Given the description of an element on the screen output the (x, y) to click on. 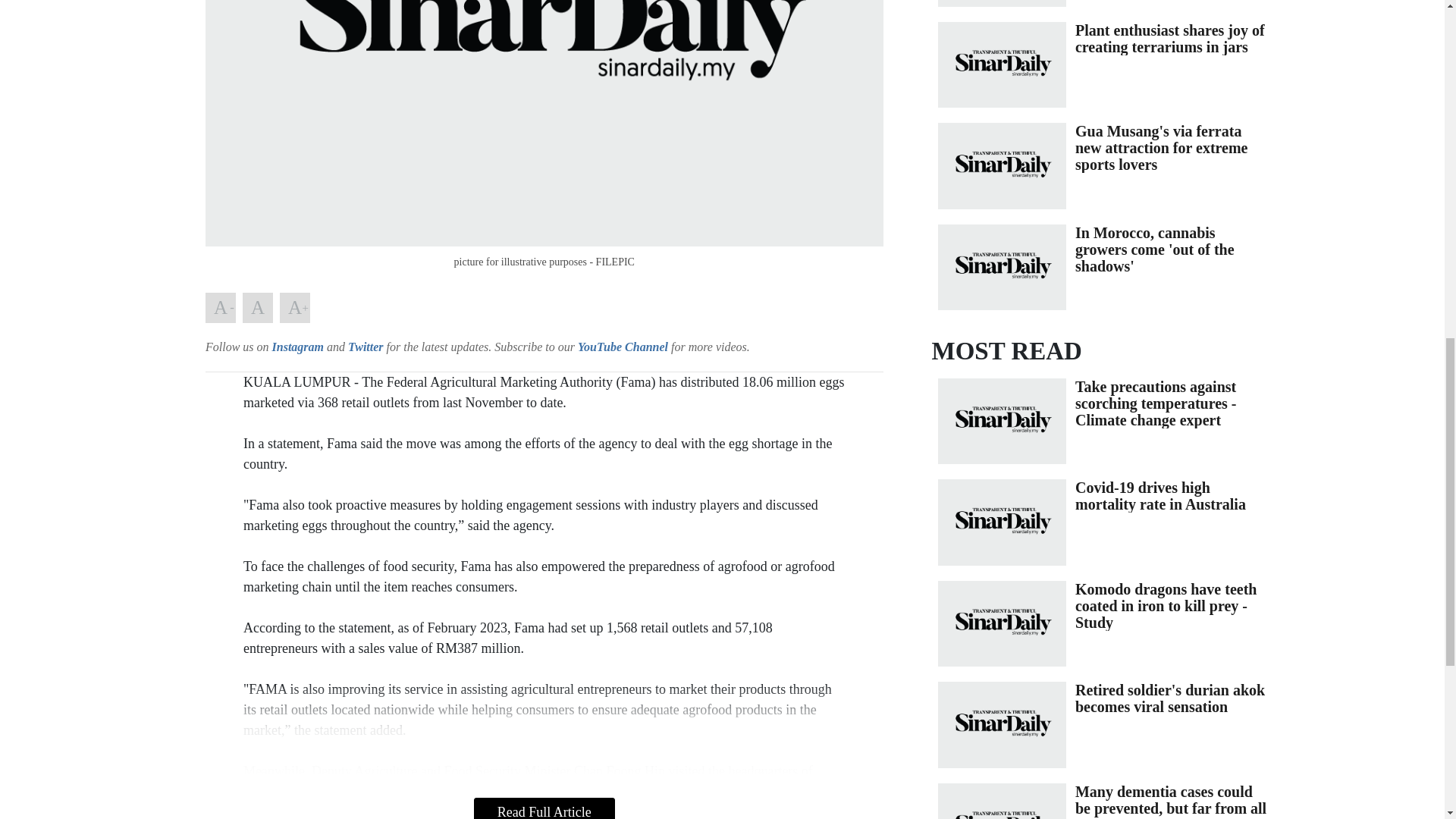
Teks Besar (294, 307)
Teks Asal (258, 307)
Teks Kecil (220, 307)
